Given the description of an element on the screen output the (x, y) to click on. 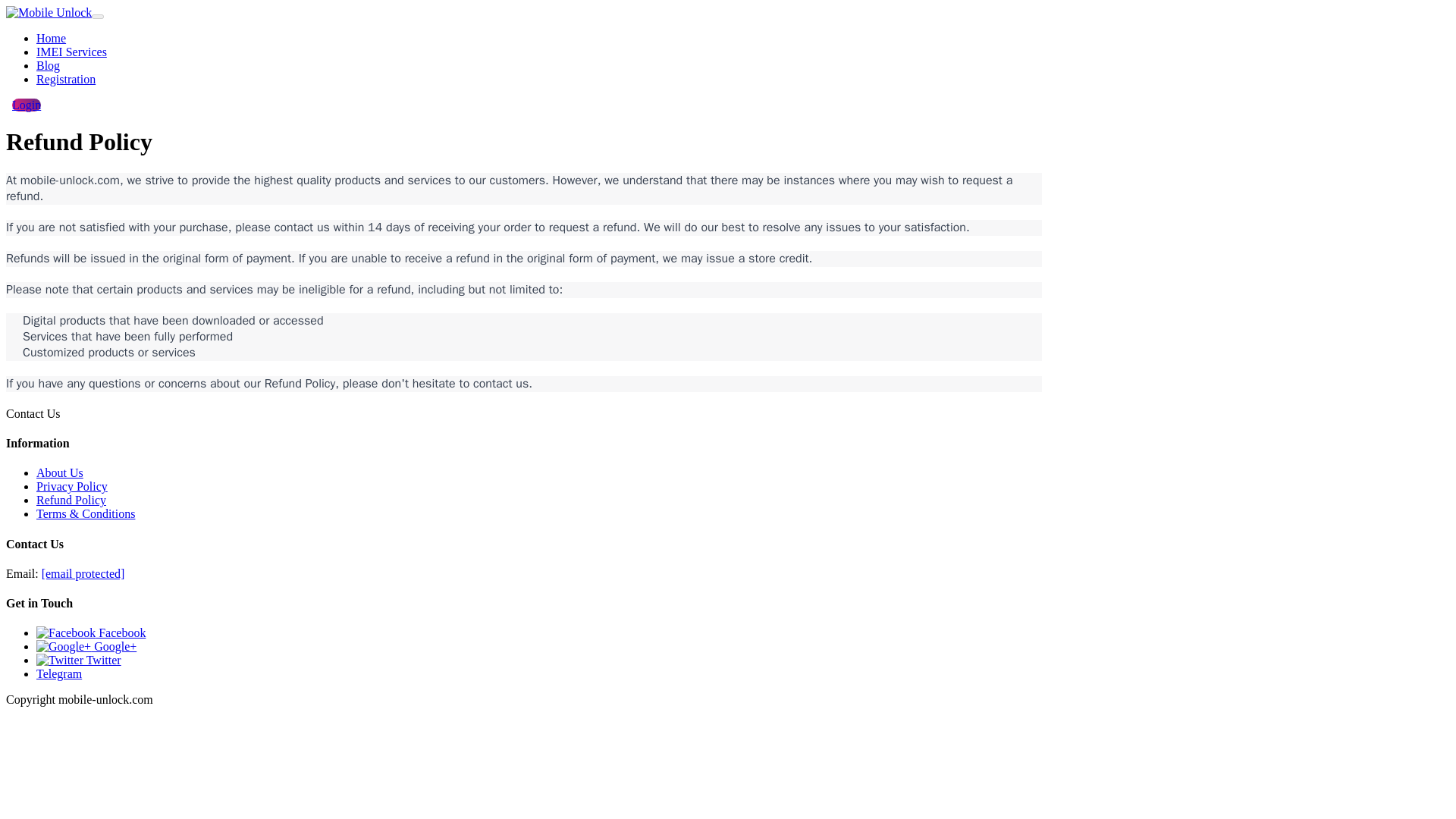
About Us (59, 472)
Telegram (58, 673)
Registration (66, 78)
Twitter (78, 659)
Blog (47, 65)
Refund Policy (71, 499)
Facebook (90, 632)
IMEI Services (71, 51)
Telegram (58, 673)
Home (50, 38)
